Given the description of an element on the screen output the (x, y) to click on. 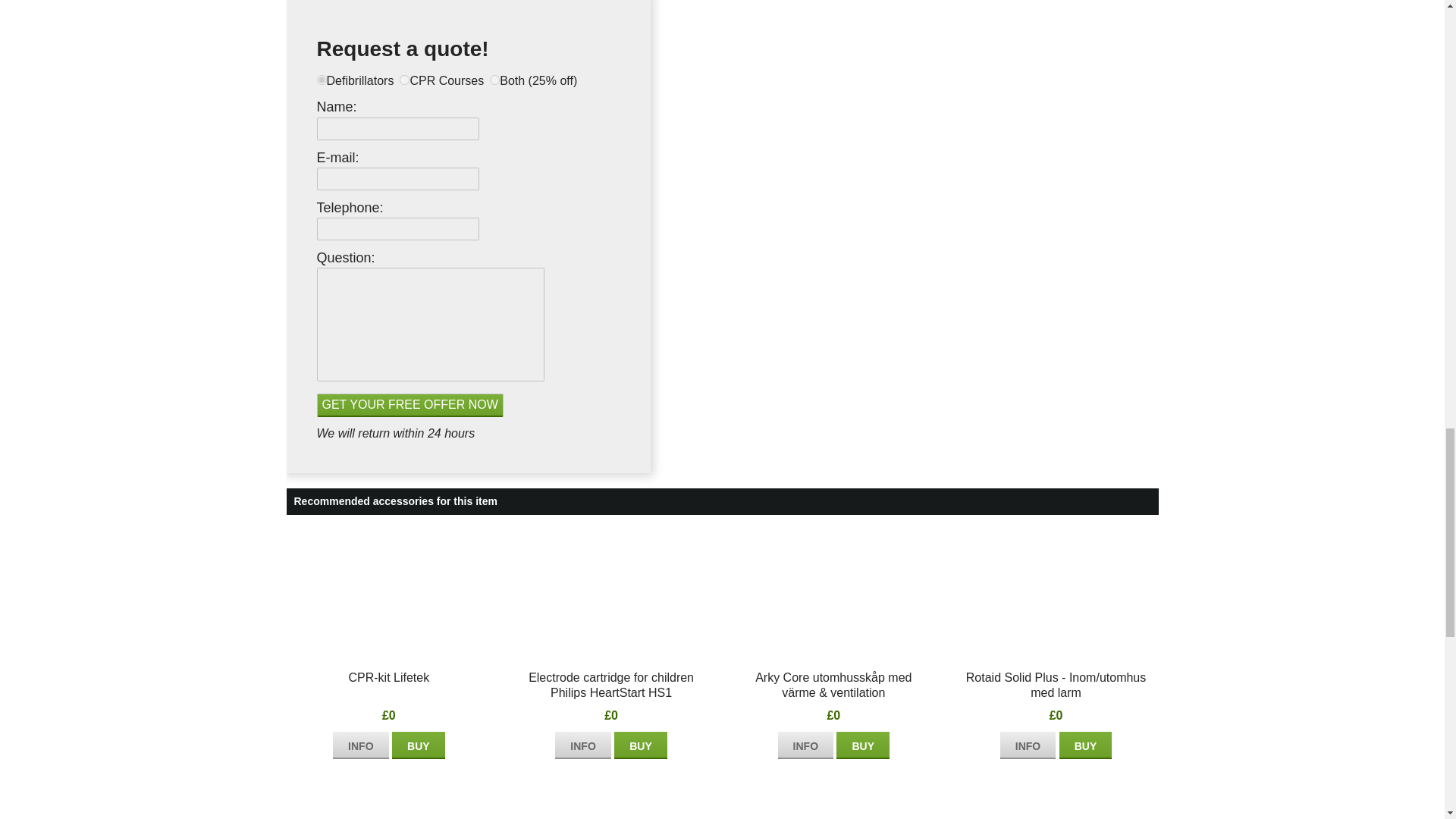
CPR Courses (403, 80)
GET YOUR FREE OFFER NOW (410, 404)
CPR-kit Lifetek (360, 745)
Defibrillators (321, 80)
GET YOUR FREE OFFER NOW (410, 404)
Electrode cartridge for children Philips HeartStart HS1 (582, 745)
